Given the description of an element on the screen output the (x, y) to click on. 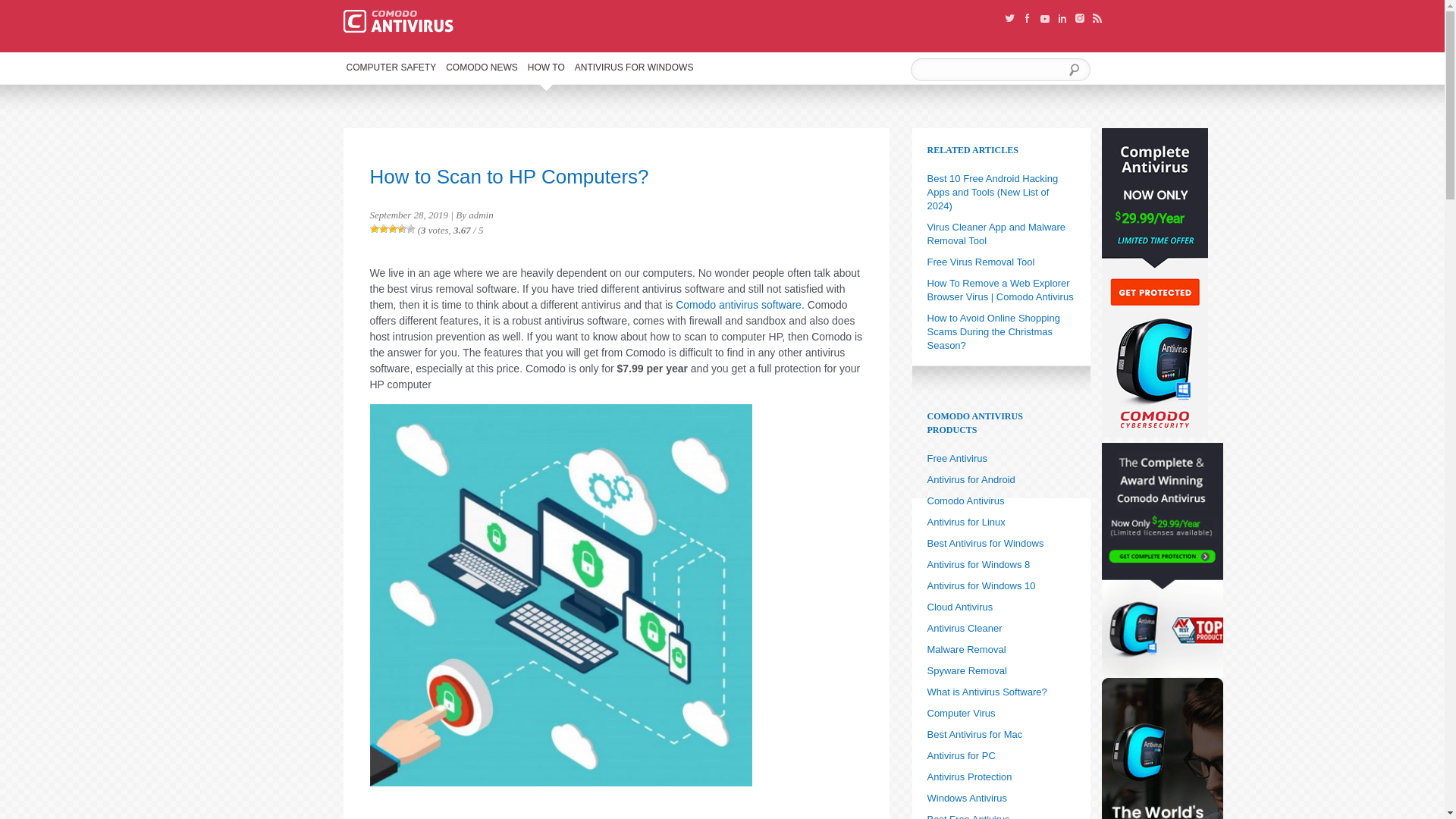
ANTIVIRUS FOR WINDOWS (634, 71)
2 Stars (383, 228)
Search (1071, 69)
RSS Feed (1096, 17)
Enter the terms you wish to search for. (1002, 69)
1 Star (373, 228)
4 Stars (401, 228)
Youtube (1045, 18)
Twitter (1010, 17)
Search (1071, 69)
Comodo antivirus software (738, 304)
5 Stars (410, 228)
Instagram (1079, 17)
HOW TO (545, 71)
COMODO NEWS (481, 71)
